Given the description of an element on the screen output the (x, y) to click on. 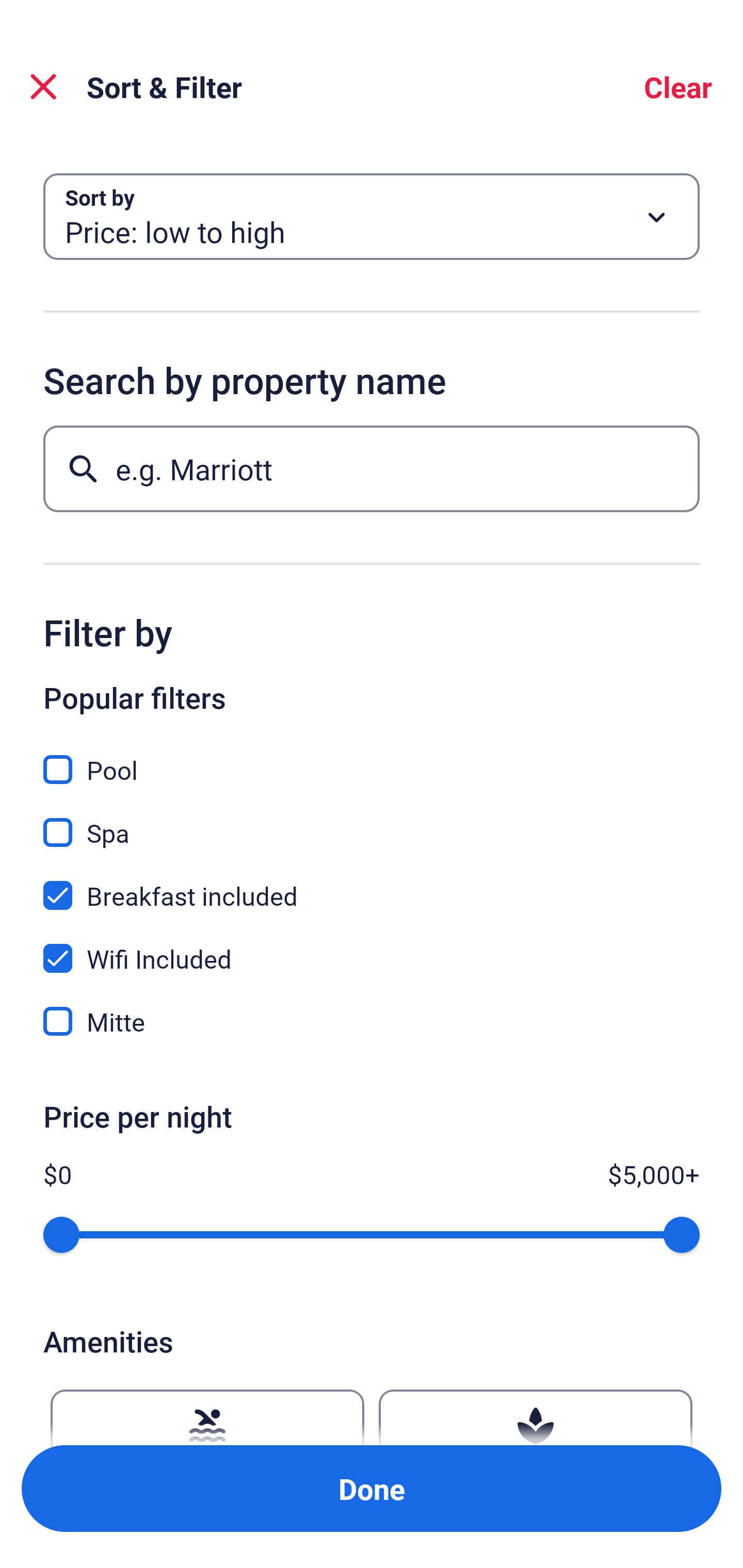
Close Sort and Filter (43, 86)
Clear (677, 86)
Sort by Button Price: low to high (371, 217)
e.g. Marriott Button (371, 468)
Pool, Pool (371, 757)
Spa, Spa (371, 821)
Breakfast included, Breakfast included (371, 883)
Wifi Included, Wifi Included (371, 946)
Mitte, Mitte (371, 1021)
Apply and close Sort and Filter Done (371, 1488)
